Given the description of an element on the screen output the (x, y) to click on. 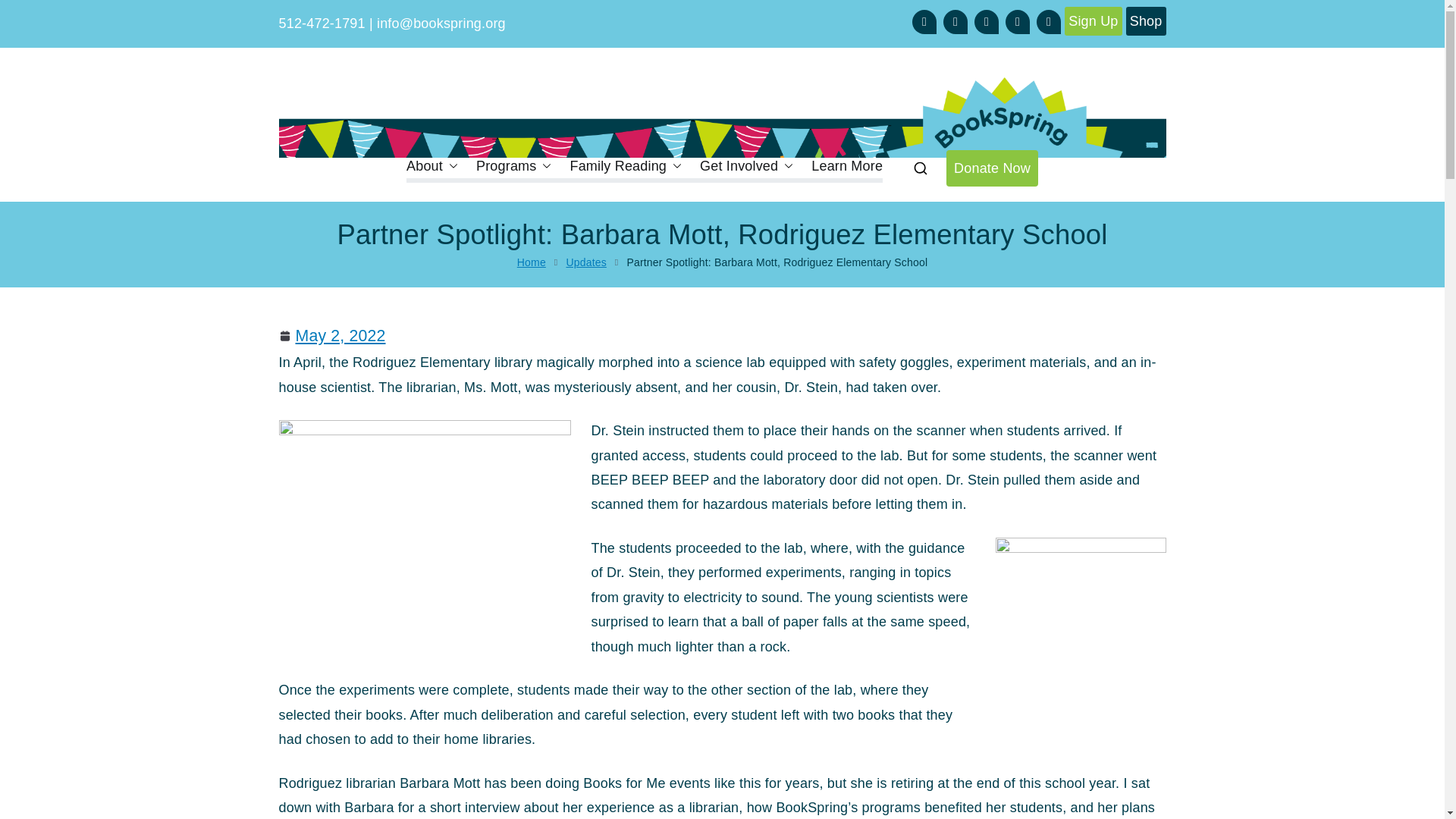
Programs (513, 165)
Family Reading (625, 165)
Facebook (924, 21)
About (432, 165)
Instagram (955, 21)
LinkedIn (986, 21)
TikTok (1017, 21)
Youtube (1048, 21)
Shop (1145, 21)
Learn More (846, 165)
